Given the description of an element on the screen output the (x, y) to click on. 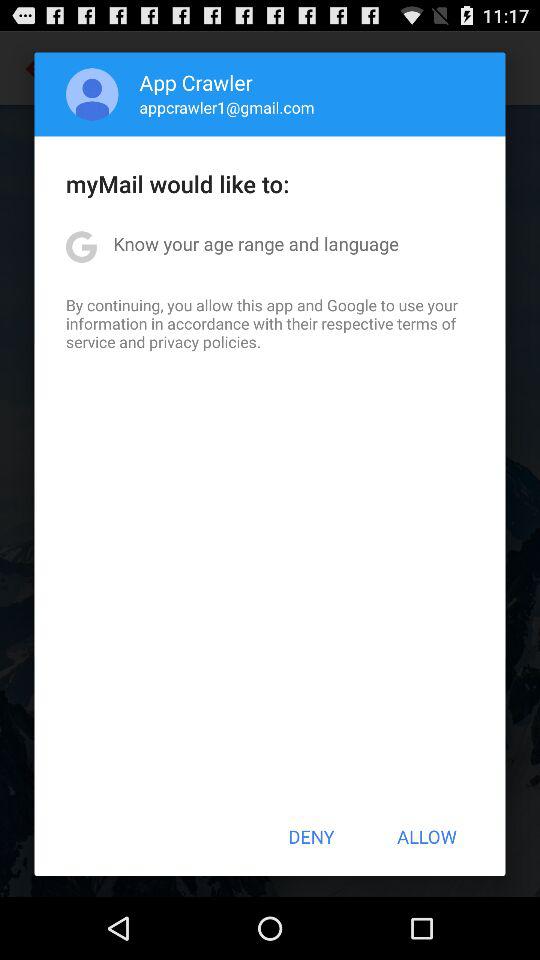
turn off item above mymail would like icon (226, 107)
